Given the description of an element on the screen output the (x, y) to click on. 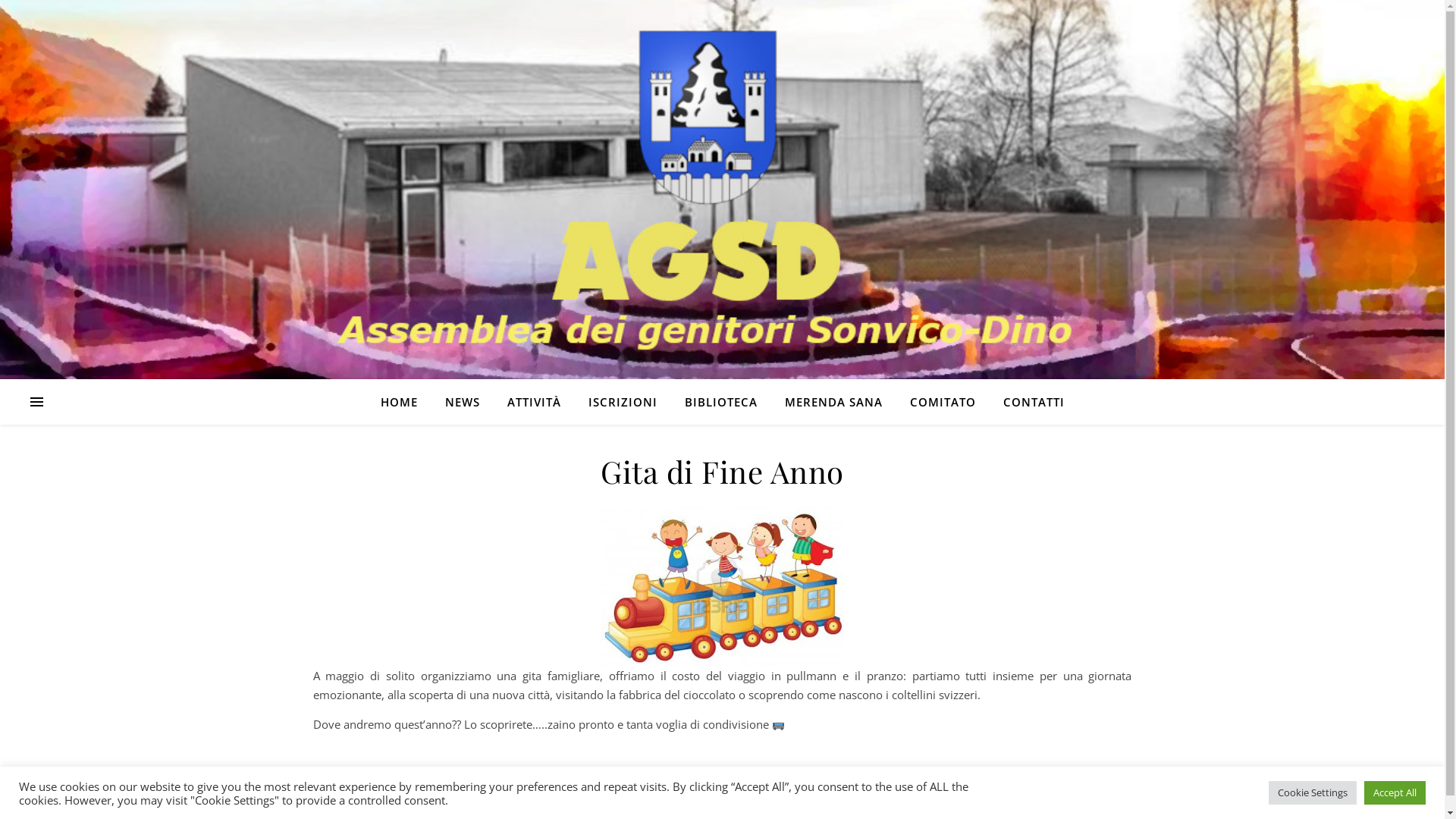
MERENDA SANA Element type: text (832, 401)
CONTATTI Element type: text (1026, 401)
WP Royal Element type: text (395, 803)
Cookie Settings Element type: text (1312, 792)
HOME Element type: text (404, 401)
Accept All Element type: text (1394, 792)
NEWS Element type: text (461, 401)
BIBLIOTECA Element type: text (719, 401)
ISCRIZIONI Element type: text (622, 401)
COMITATO Element type: text (942, 401)
